Given the description of an element on the screen output the (x, y) to click on. 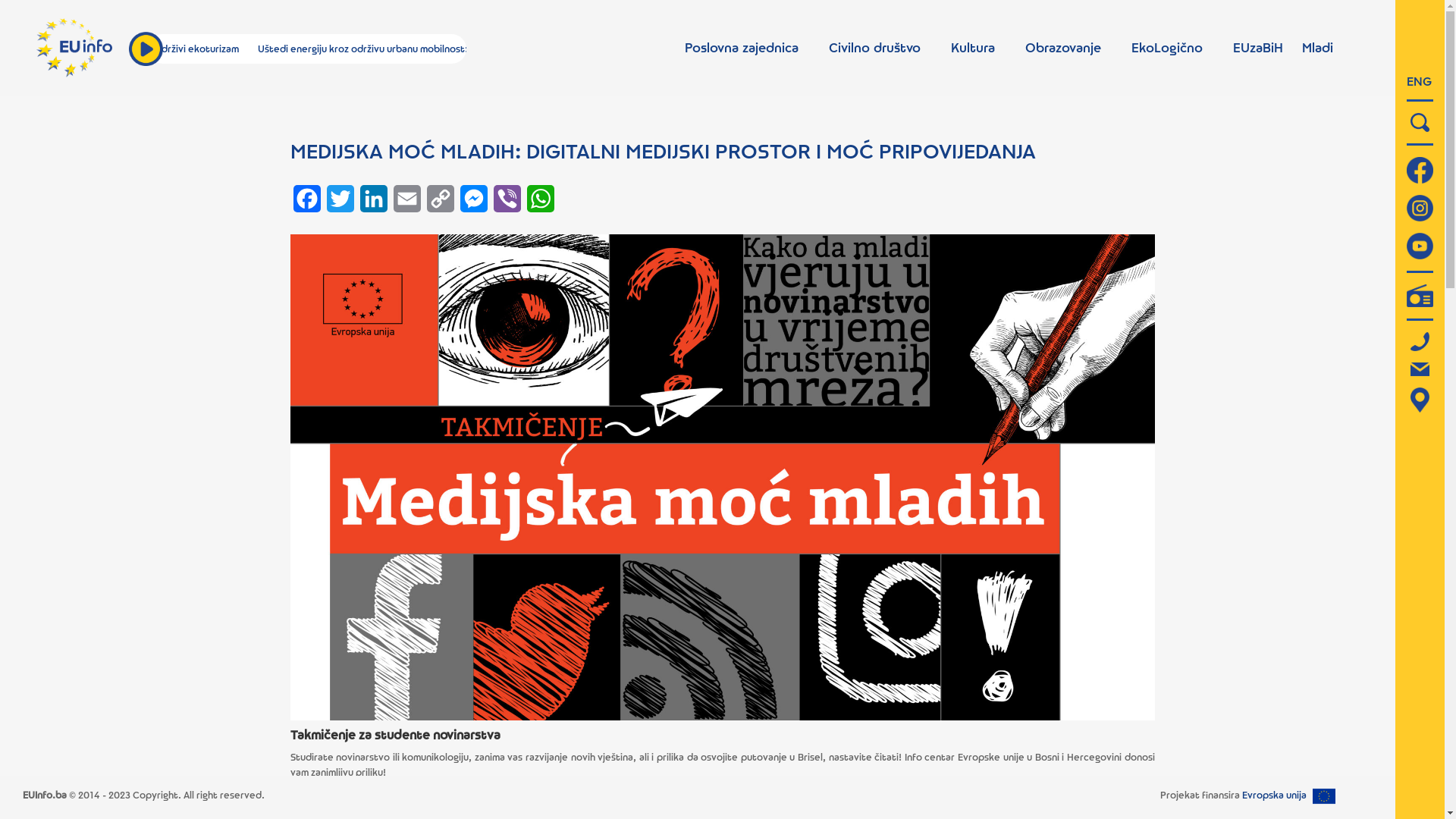
Kultura Element type: text (972, 47)
Poslovna zajednica Element type: text (741, 47)
Obrazovanje Element type: text (1062, 47)
ENG Element type: text (1418, 80)
LinkedIn Element type: text (372, 203)
Facebook Element type: text (306, 203)
EUzaBiH Element type: text (1257, 47)
Evropska unija Element type: text (1274, 794)
Septembar uz EUIC Element type: text (140, 48)
Viber Element type: text (506, 203)
EUInfo.ba Element type: text (44, 794)
Copy Link Element type: text (439, 203)
Messenger Element type: text (472, 203)
WhatsApp Element type: text (539, 203)
Mladi Element type: text (1317, 47)
Twitter Element type: text (339, 203)
Email Element type: text (406, 203)
